Given the description of an element on the screen output the (x, y) to click on. 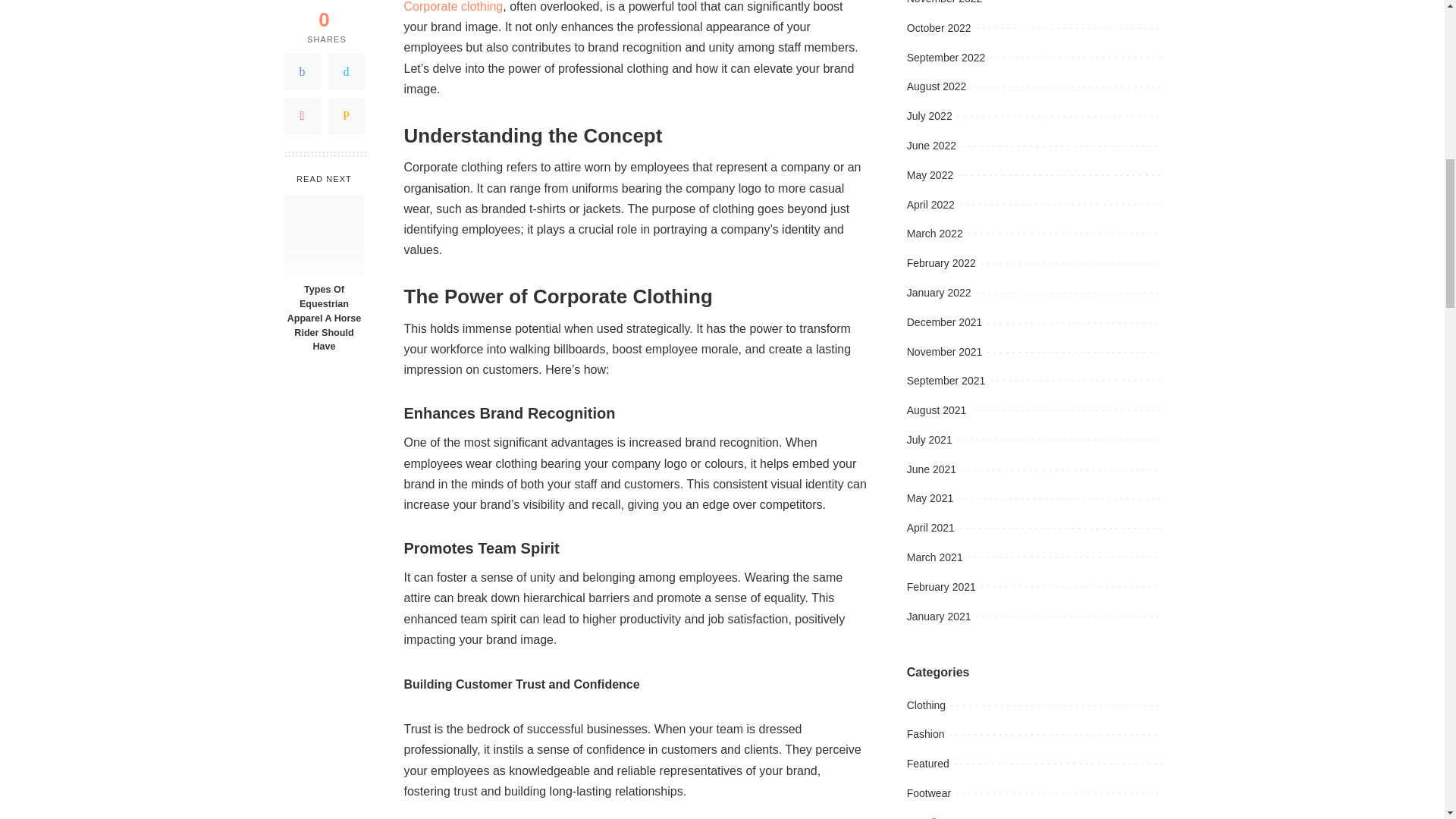
Facebook (301, 60)
Types Of Equestrian Apparel A Horse Rider Should Have (323, 223)
Twitter (345, 60)
Pinterest (301, 104)
Types Of Equestrian Apparel A Horse Rider Should Have (323, 307)
Types Of Equestrian Apparel A Horse Rider Should Have (323, 307)
Email (345, 104)
Corporate clothing (452, 6)
